Given the description of an element on the screen output the (x, y) to click on. 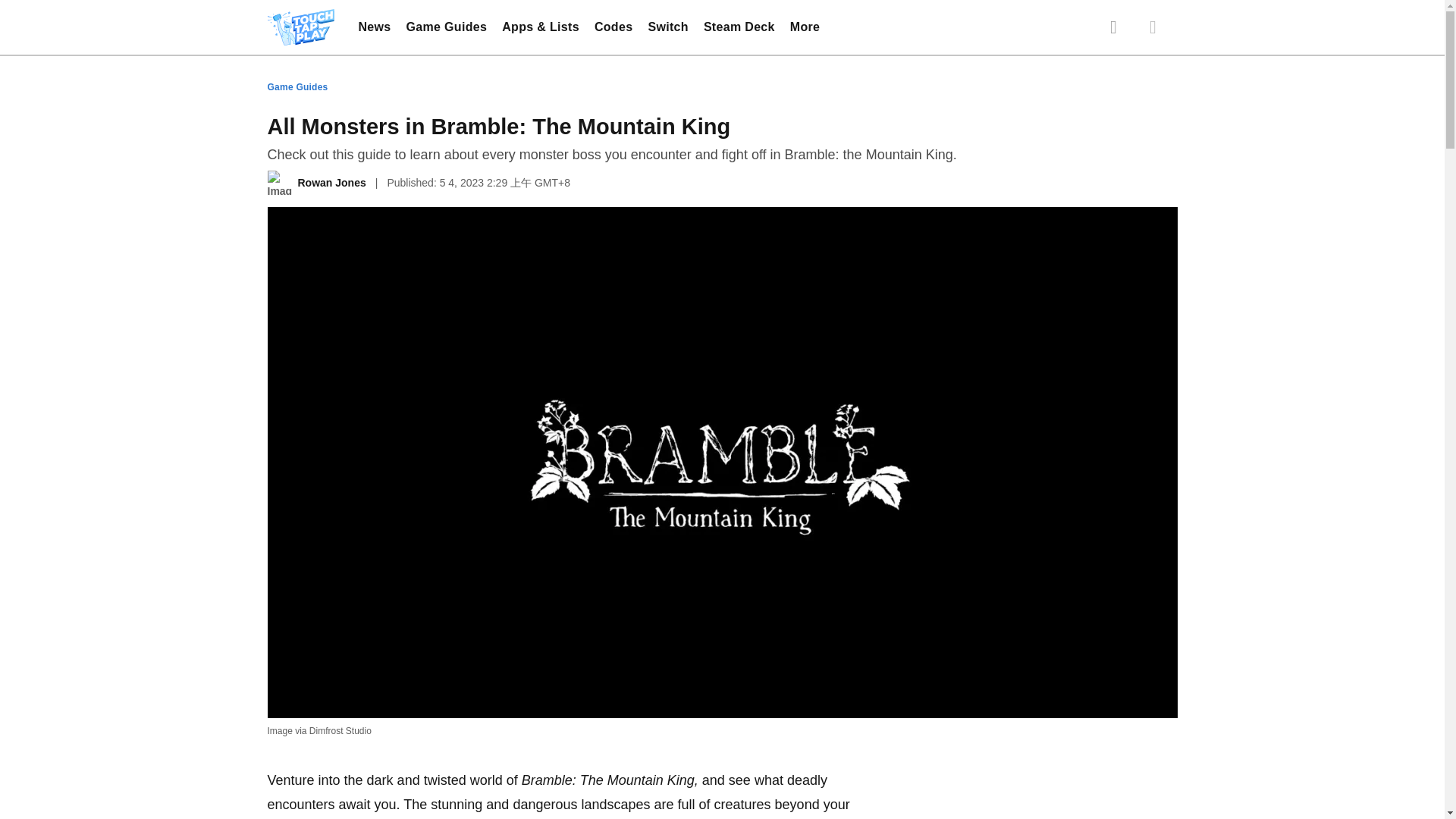
Game Guides (446, 26)
Steam Deck (738, 26)
News (374, 26)
Switch (667, 26)
Search (1112, 27)
Codes (613, 26)
Dark Mode (1152, 27)
